Given the description of an element on the screen output the (x, y) to click on. 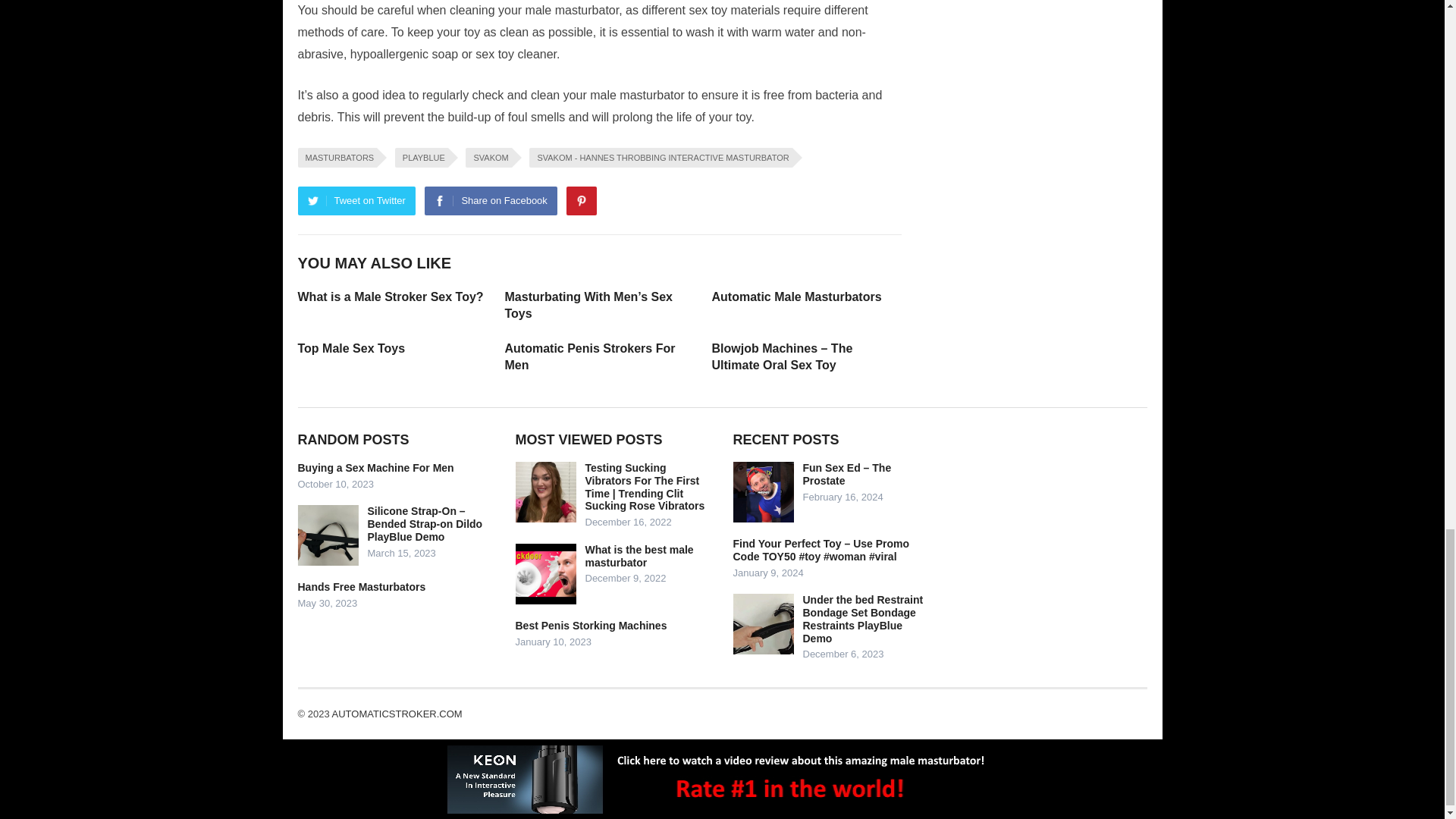
PLAYBLUE (421, 157)
SVAKOM (488, 157)
Automatic Male Masturbators (795, 296)
Tweet on Twitter (355, 200)
MASTURBATORS (337, 157)
Share on Facebook (490, 200)
SVAKOM - HANNES THROBBING INTERACTIVE MASTURBATOR (660, 157)
Top Male Sex Toys (350, 348)
Pinterest (581, 200)
What is a Male Stroker Sex Toy? (390, 296)
